Given the description of an element on the screen output the (x, y) to click on. 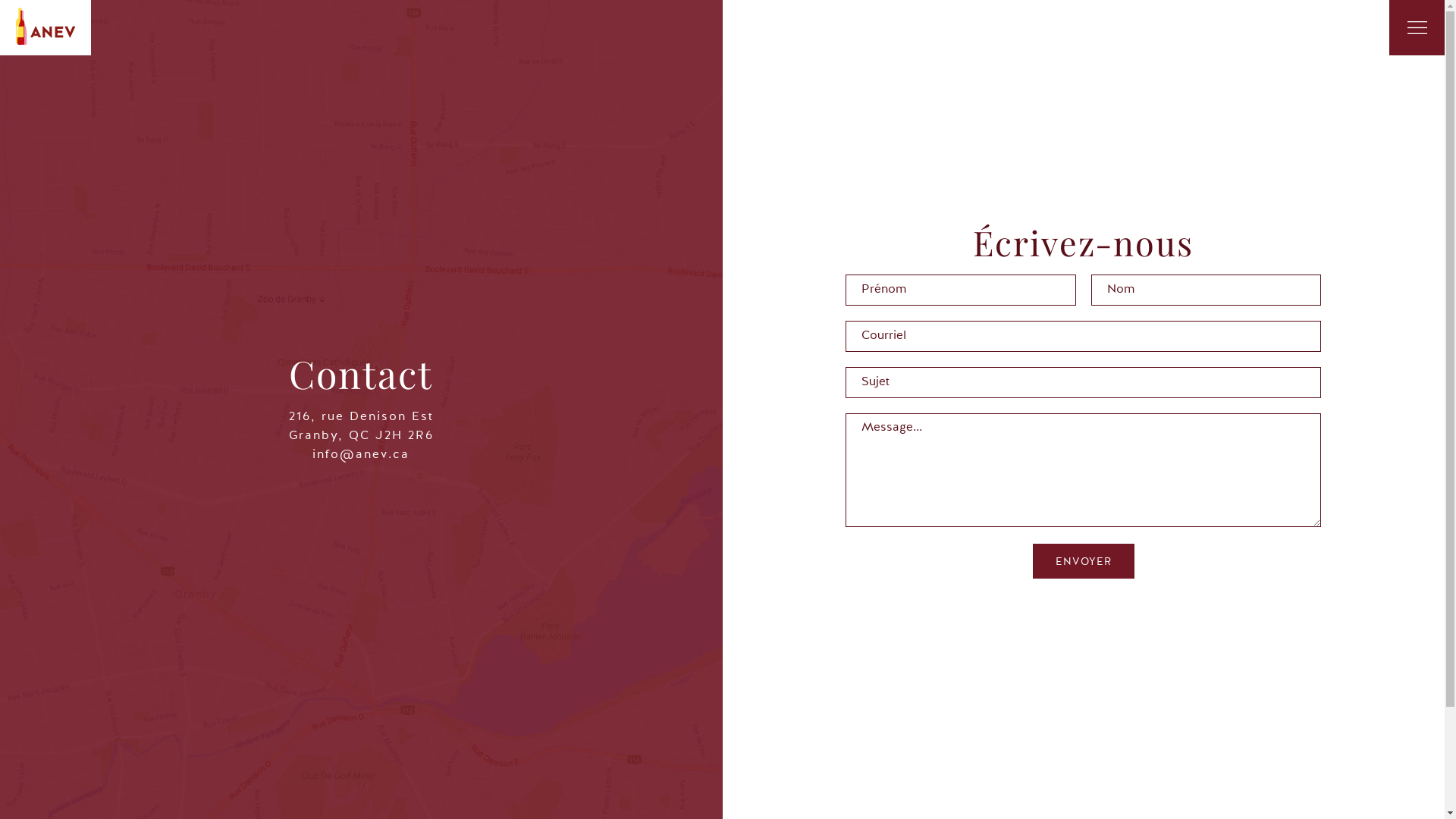
ENVOYER Element type: text (1083, 560)
info@anev.ca Element type: text (360, 454)
